Given the description of an element on the screen output the (x, y) to click on. 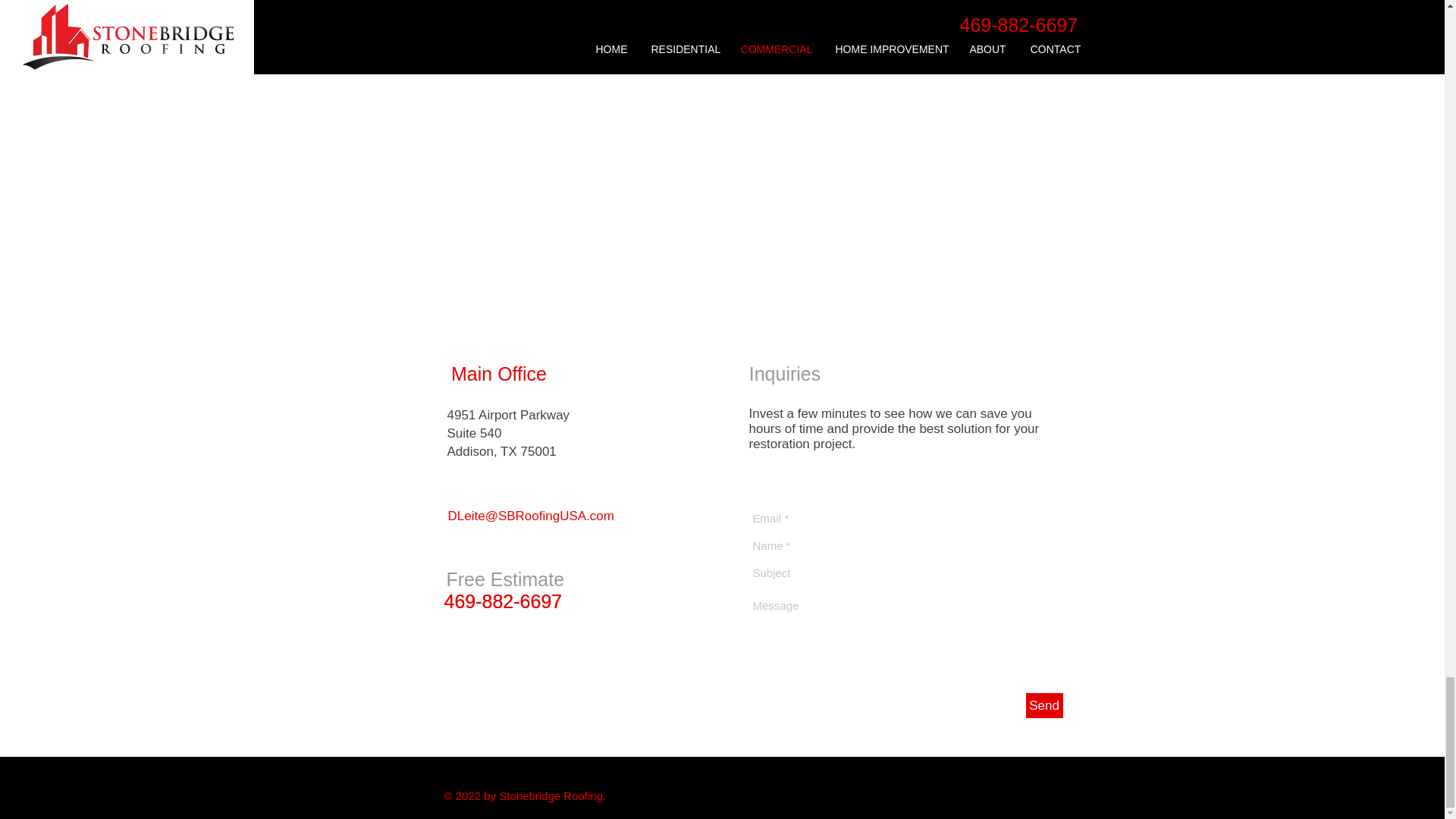
Send (1043, 705)
469-882-6697 (503, 600)
